Given the description of an element on the screen output the (x, y) to click on. 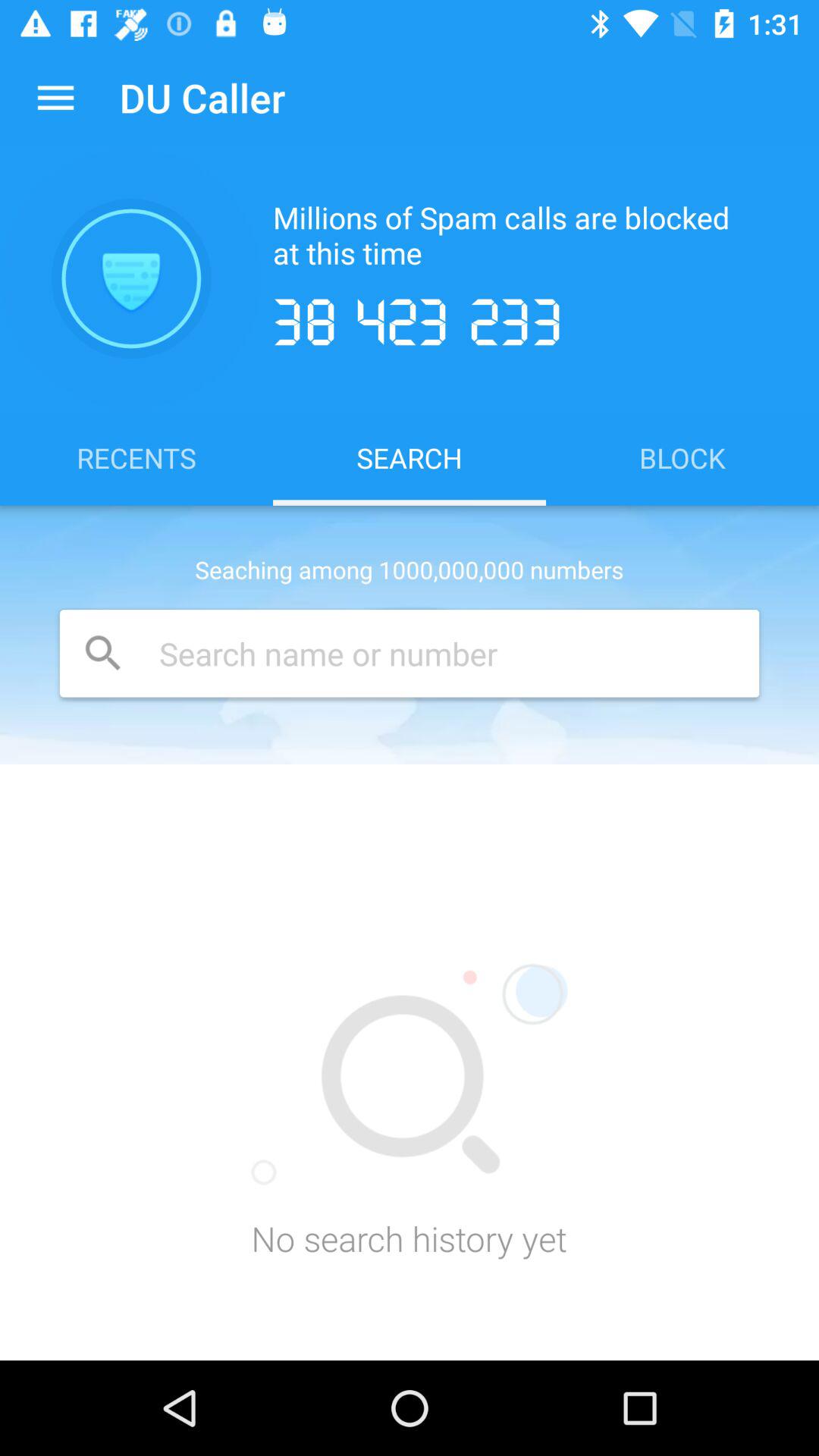
turn on icon next to du caller (55, 97)
